Given the description of an element on the screen output the (x, y) to click on. 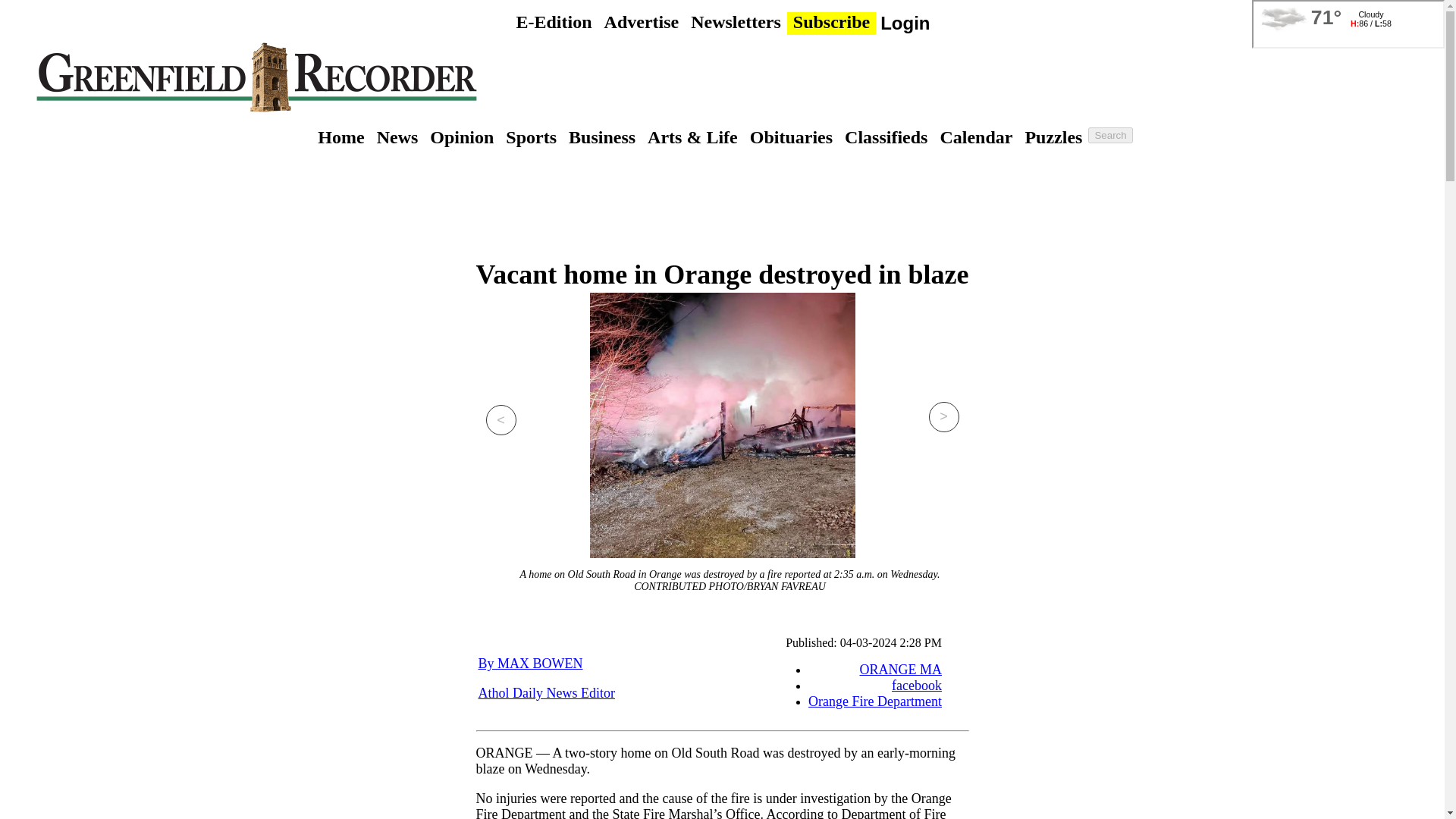
Subscribe (831, 21)
Orange Fire Department (875, 701)
Newsletters (735, 21)
Search (1109, 135)
Puzzles (1052, 137)
Opinion (461, 137)
Calendar (975, 137)
By MAX BOWEN (529, 663)
E-Edition (554, 21)
Home (340, 137)
Sports (530, 137)
Login (905, 23)
facebook (916, 685)
Business (602, 137)
Athol Daily News Editor (545, 693)
